Given the description of an element on the screen output the (x, y) to click on. 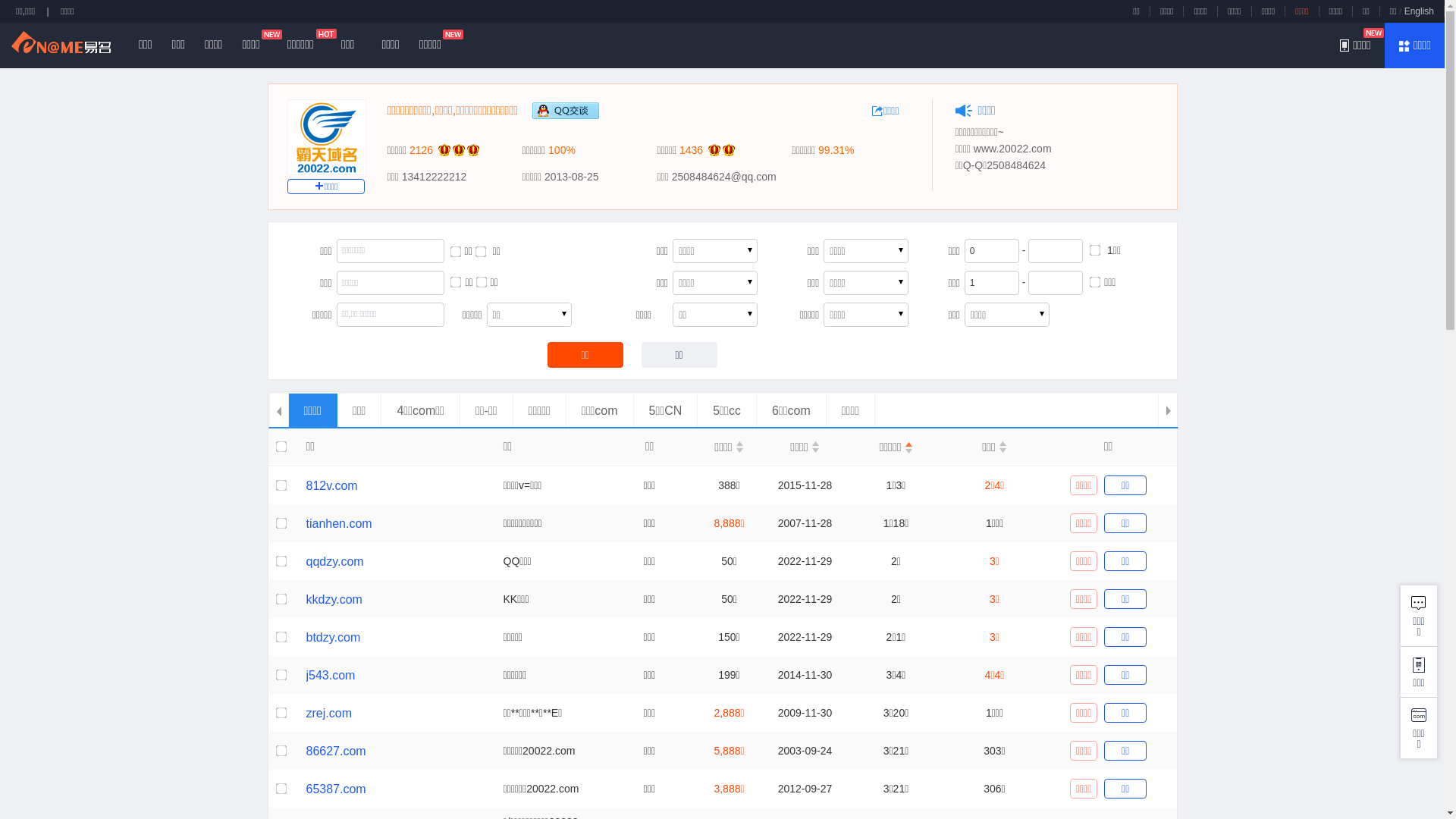
812v.com Element type: text (331, 485)
1436 Element type: text (690, 150)
j543.com Element type: text (330, 675)
2126 Element type: text (421, 150)
86627.com Element type: text (336, 751)
tianhen.com Element type: text (339, 523)
65387.com Element type: text (336, 789)
99.31% Element type: text (835, 150)
kkdzy.com Element type: text (334, 599)
zrej.com Element type: text (328, 713)
btdzy.com Element type: text (333, 637)
English Element type: text (1419, 11)
qqdzy.com Element type: text (335, 561)
100% Element type: text (561, 150)
